Given the description of an element on the screen output the (x, y) to click on. 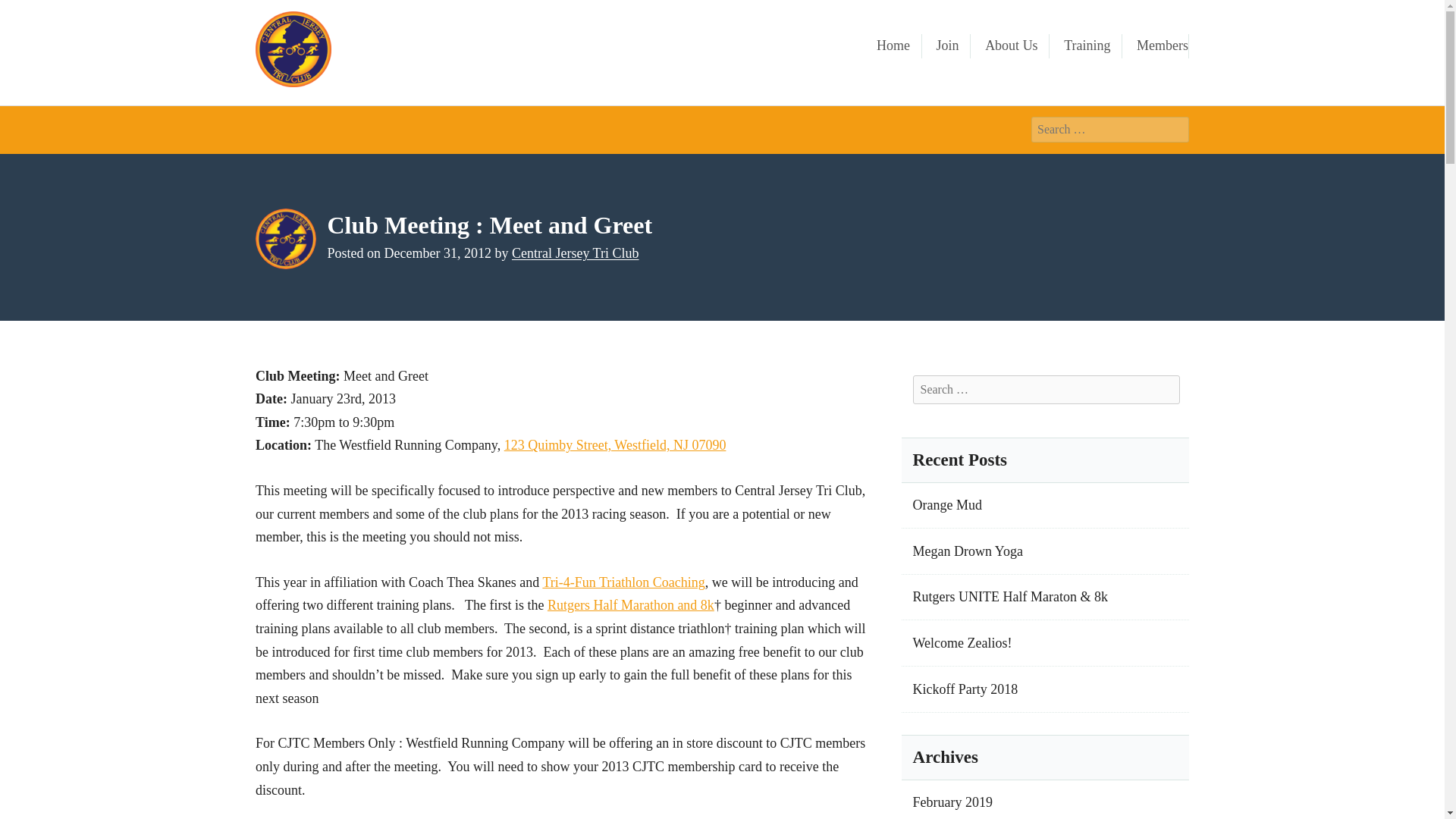
About Us (1011, 46)
Home (893, 46)
Training (1086, 46)
Central Jersey Tri Club (575, 253)
Tri-4-Fun Triathlon Coaching (622, 581)
Members (1162, 46)
Central Jersey Tri Club (425, 43)
123 Quimby Street, Westfield, NJ 07090 (614, 444)
Join (947, 46)
